Given the description of an element on the screen output the (x, y) to click on. 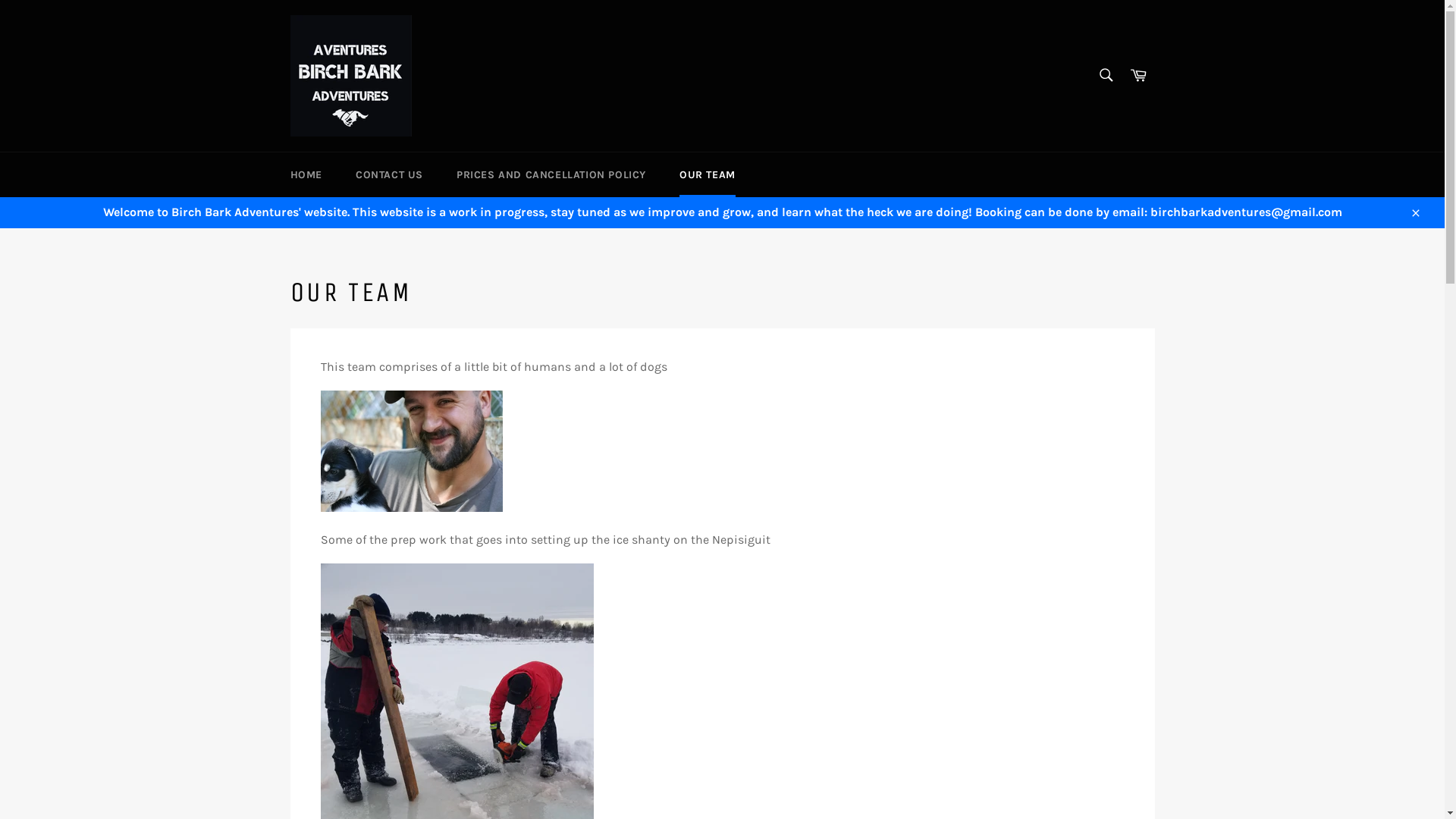
PRICES AND CANCELLATION POLICY Element type: text (551, 174)
Search Element type: text (1105, 75)
HOME Element type: text (305, 174)
Close Element type: text (1414, 212)
Cart Element type: text (1138, 76)
CONTACT US Element type: text (389, 174)
OUR TEAM Element type: text (707, 174)
